Given the description of an element on the screen output the (x, y) to click on. 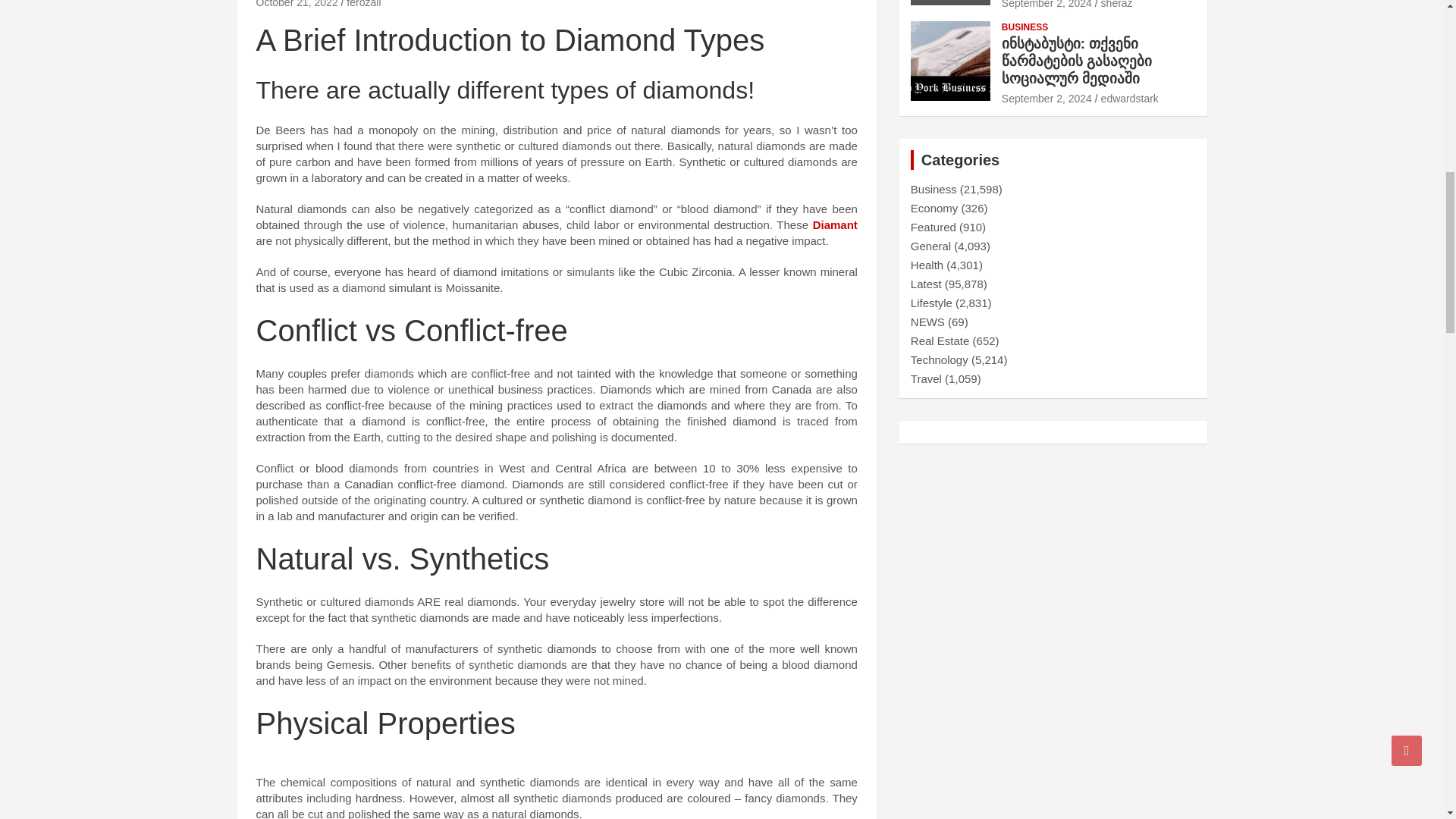
Diamant (834, 224)
ferozali (363, 4)
October 21, 2022 (296, 4)
DIFFERENT TYPES OF DIAMONDS FOR YOUR ENGAGEMENT PROPOSAL (296, 4)
